Given the description of an element on the screen output the (x, y) to click on. 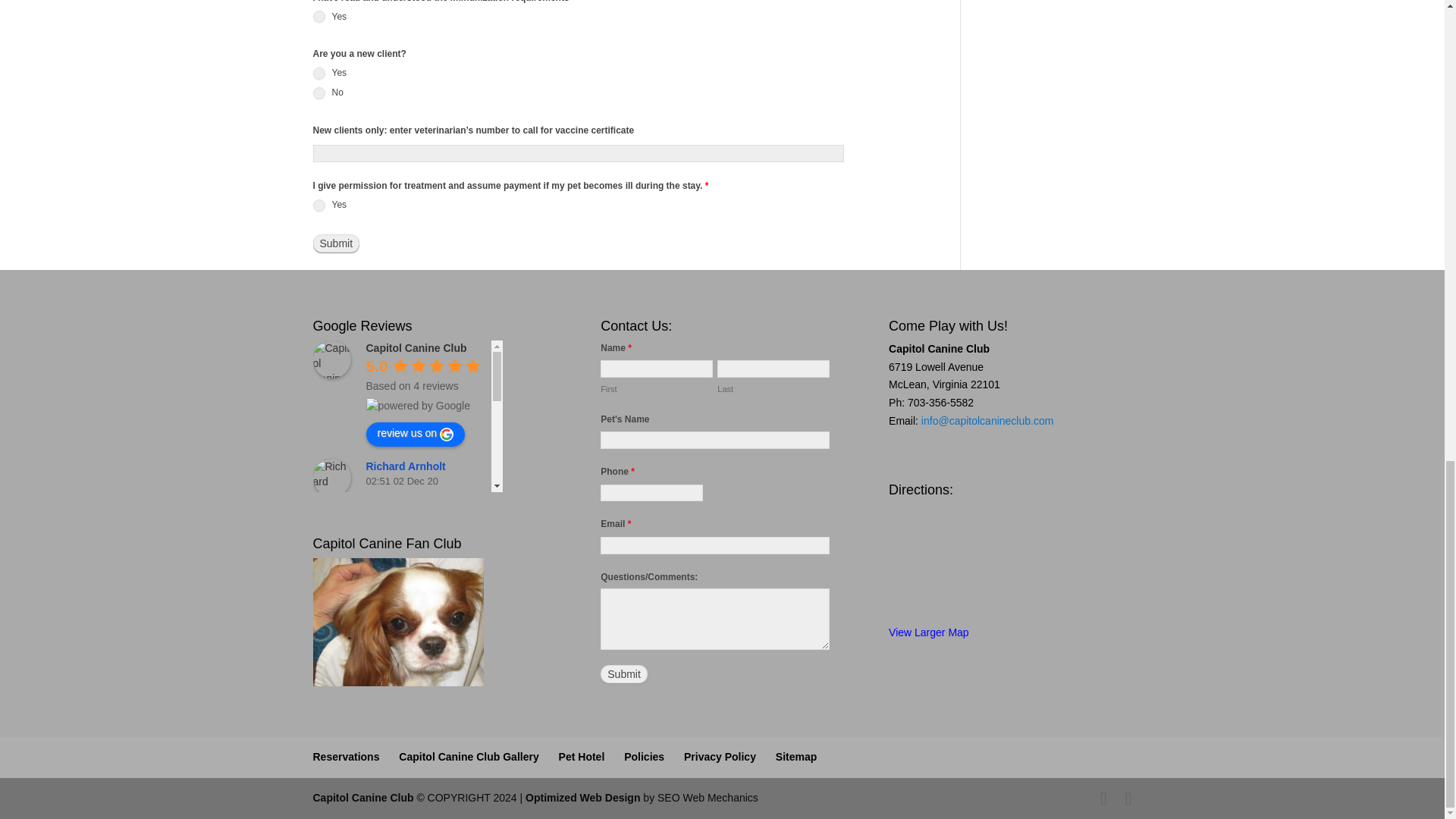
Capitol Canine Club (331, 359)
Yes (318, 16)
Richard Arnholt (407, 466)
No (318, 92)
Submit (336, 243)
Reservations (345, 756)
Submit (623, 674)
Pet Hotel (582, 756)
Yes (318, 73)
Alexandra Chappell (416, 526)
